Given the description of an element on the screen output the (x, y) to click on. 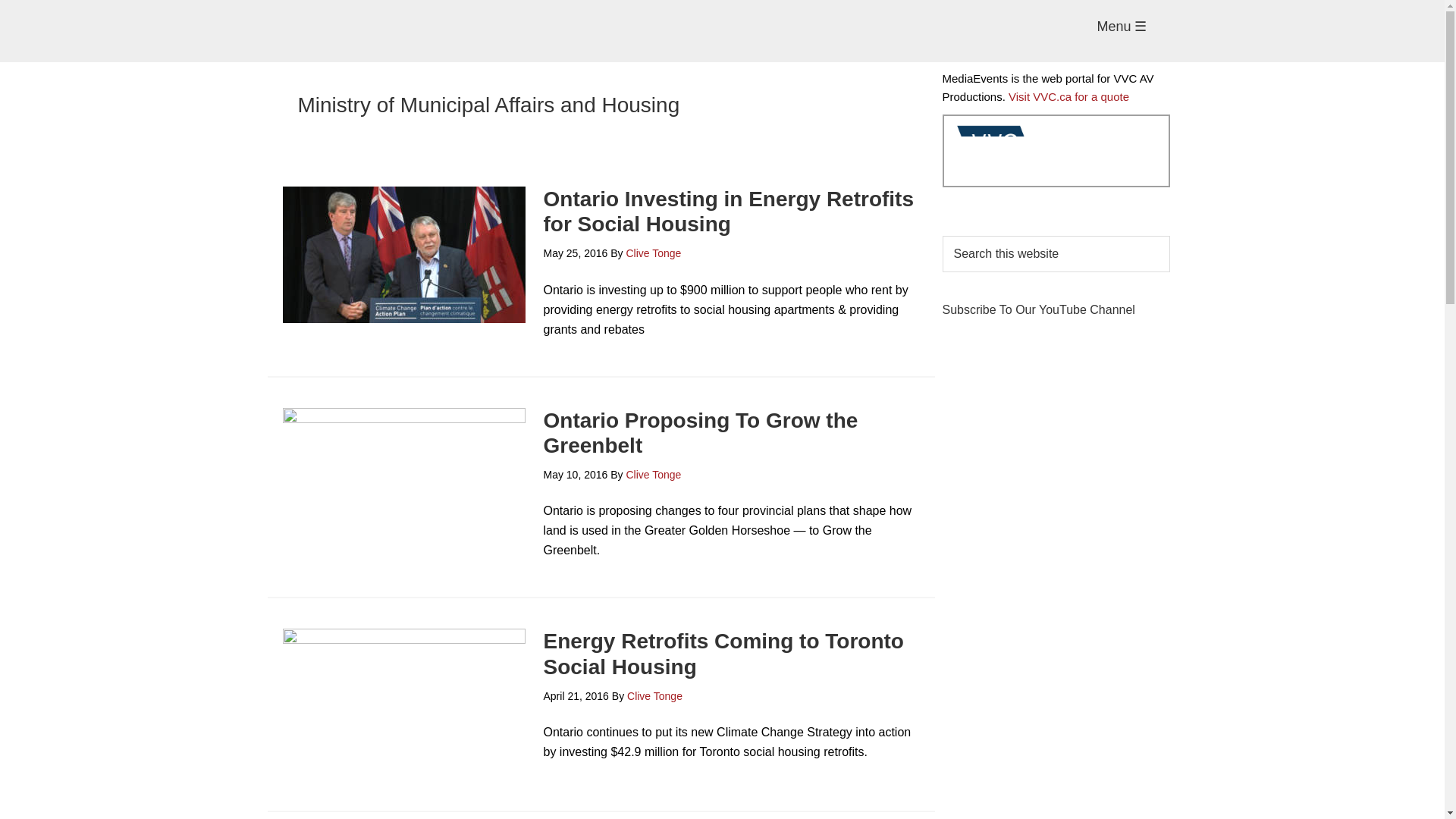
Media Events (722, 30)
Clive Tonge (653, 253)
Clive Tonge (653, 474)
Ontario Proposing To Grow the Greenbelt (700, 432)
Ontario Investing in Energy Retrofits for Social Housing (728, 211)
